Given the description of an element on the screen output the (x, y) to click on. 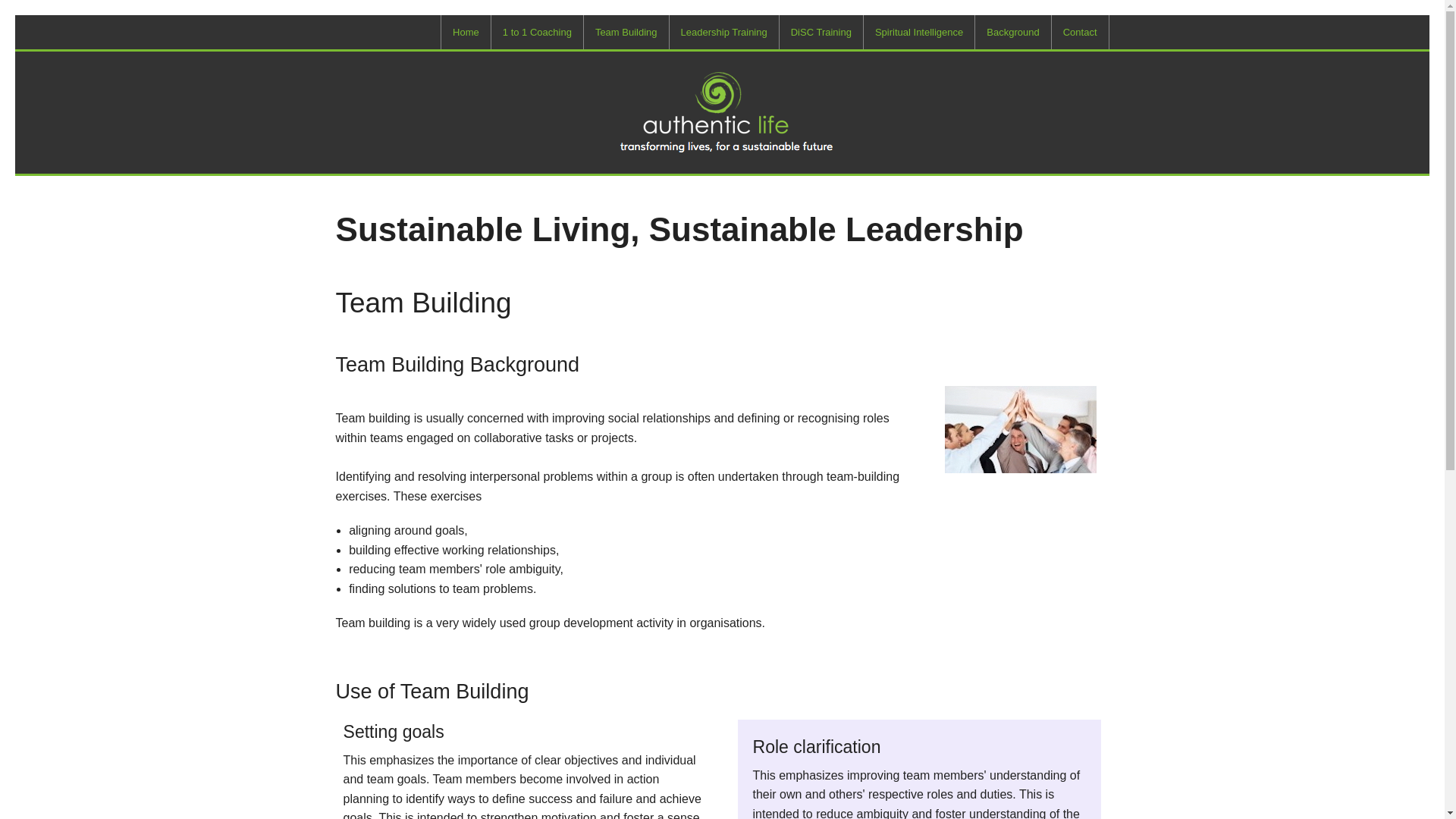
Spiritual Intelligence (918, 32)
Home (465, 32)
1 to 1 Coaching (537, 32)
Leadership Training (723, 32)
Background (1012, 32)
DiSC Training (820, 32)
Contact (1079, 32)
Team Building (625, 32)
